Given the description of an element on the screen output the (x, y) to click on. 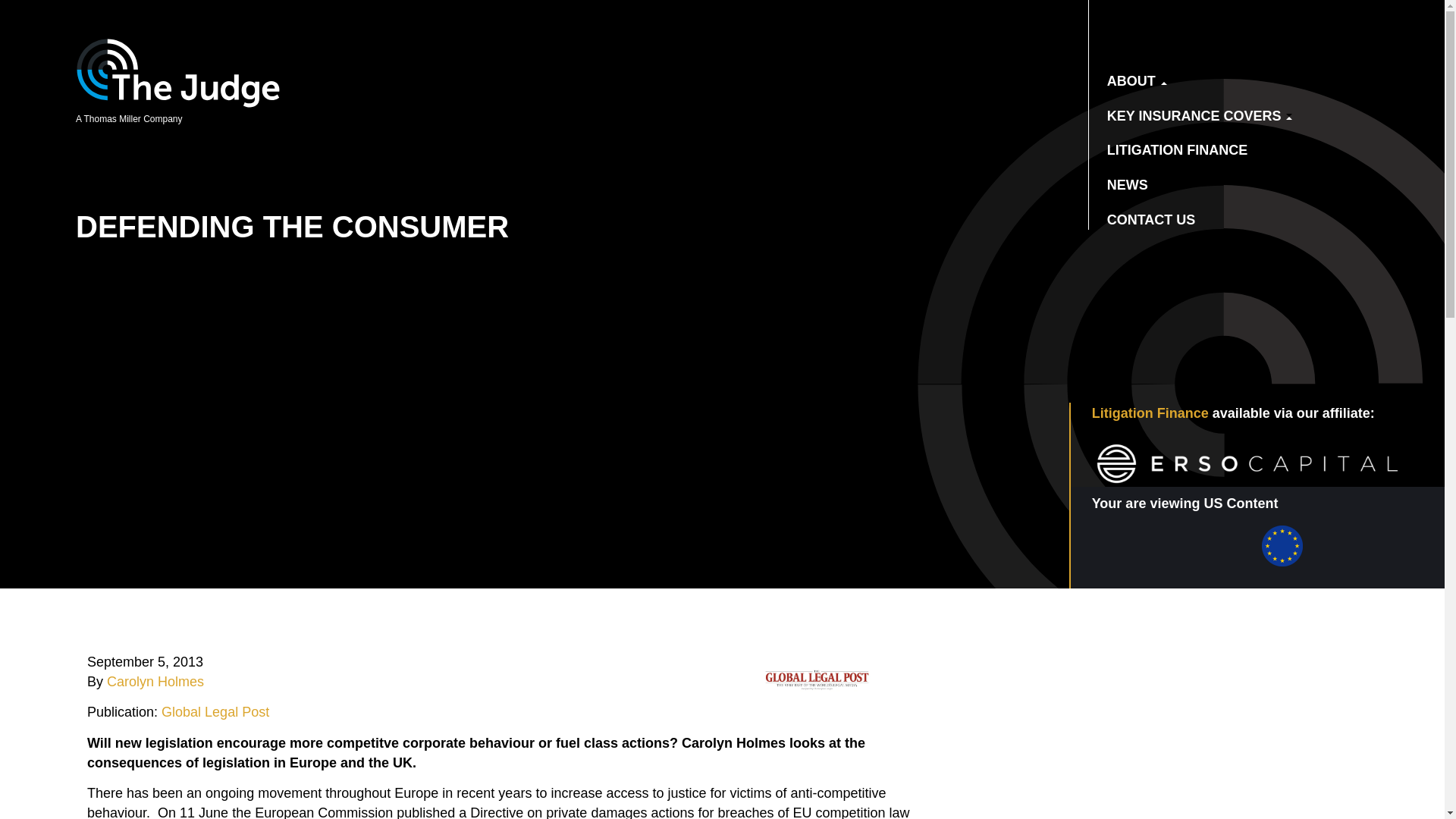
A Thomas Miller Company (178, 94)
